Given the description of an element on the screen output the (x, y) to click on. 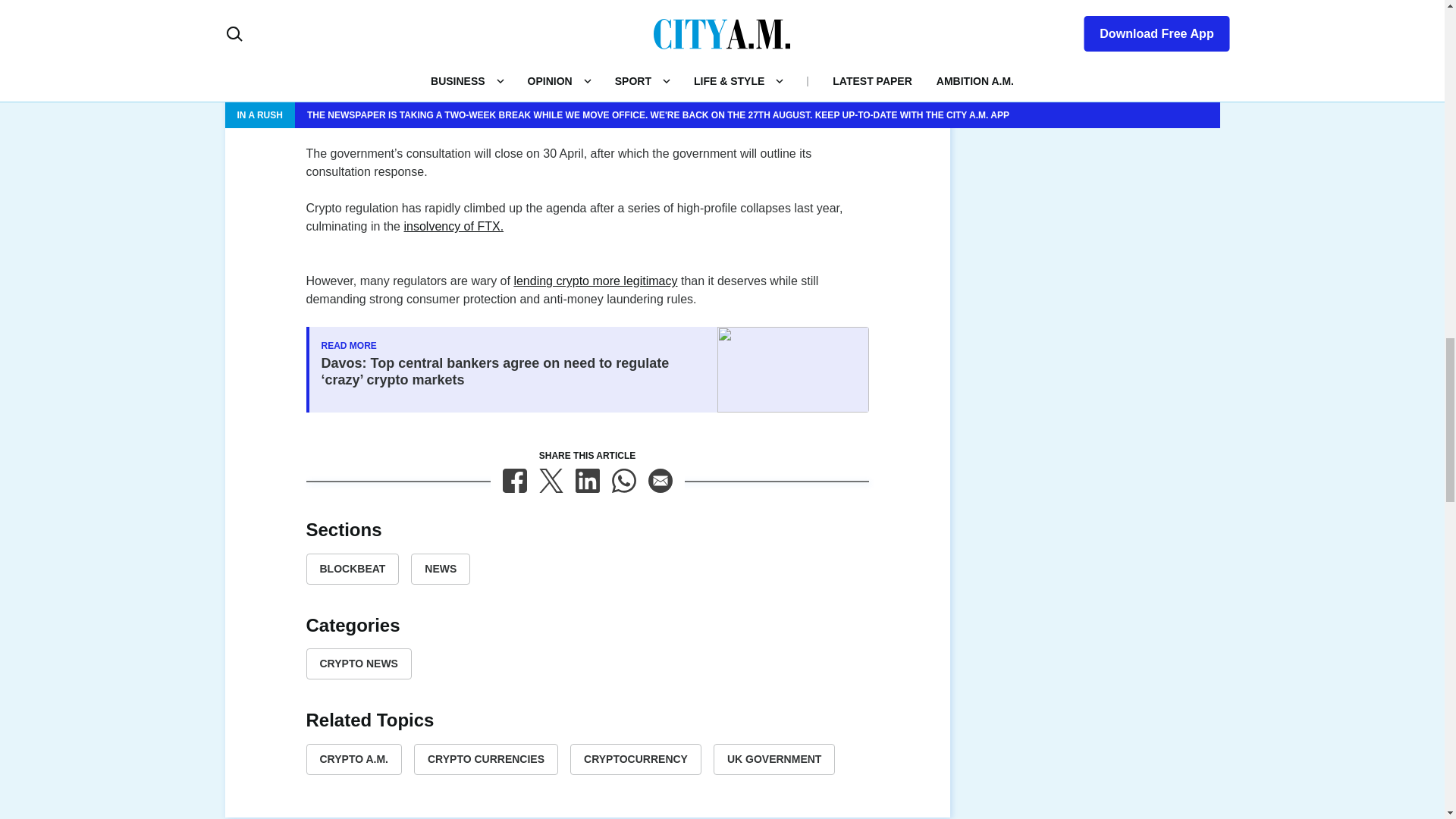
Facebook (513, 480)
X (550, 480)
Email (659, 480)
LinkedIn (586, 480)
WhatsApp (622, 480)
